Given the description of an element on the screen output the (x, y) to click on. 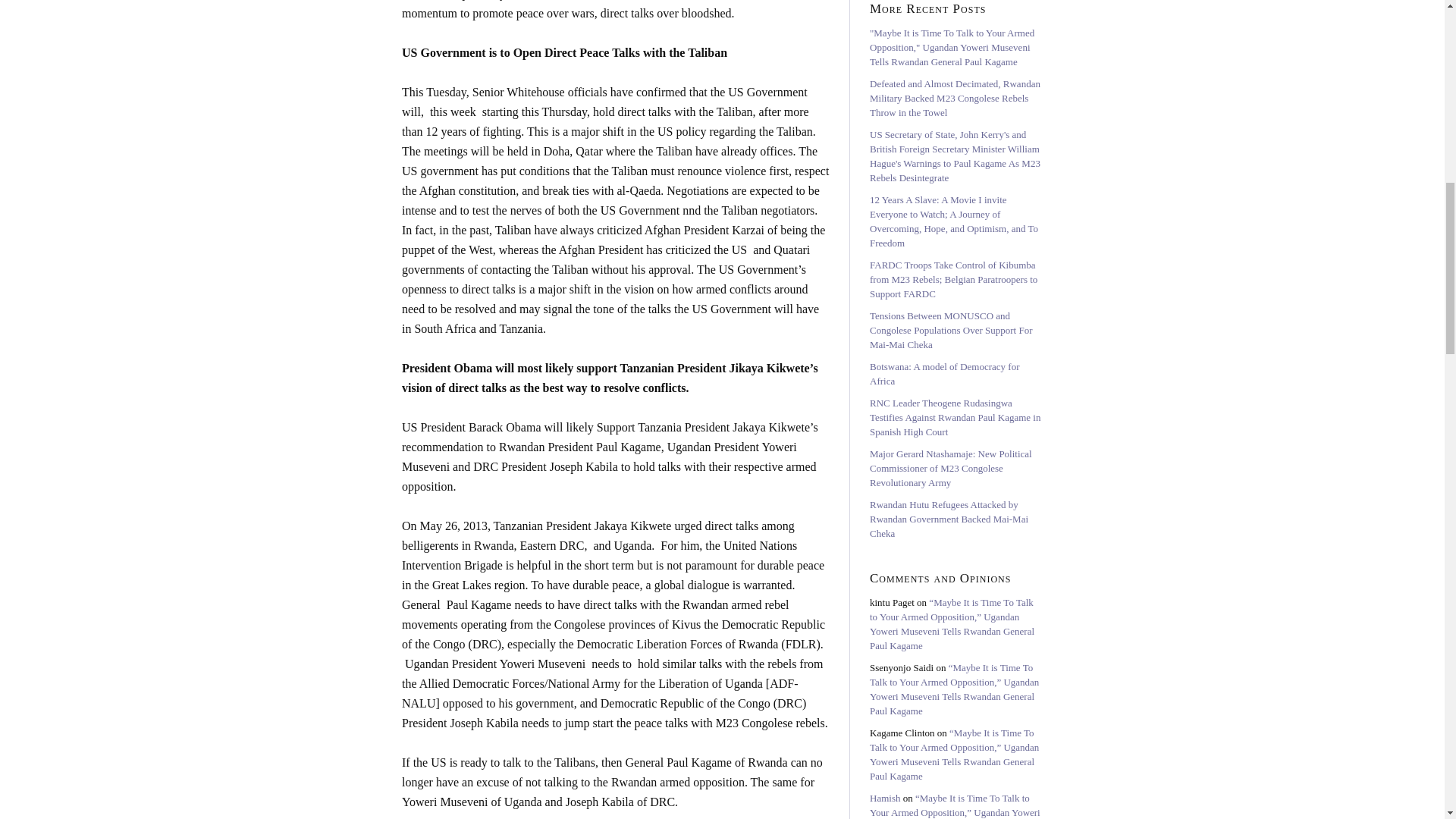
Click to read Botswana: A model of Democracy for Africa (944, 373)
Hamish (884, 797)
